Given the description of an element on the screen output the (x, y) to click on. 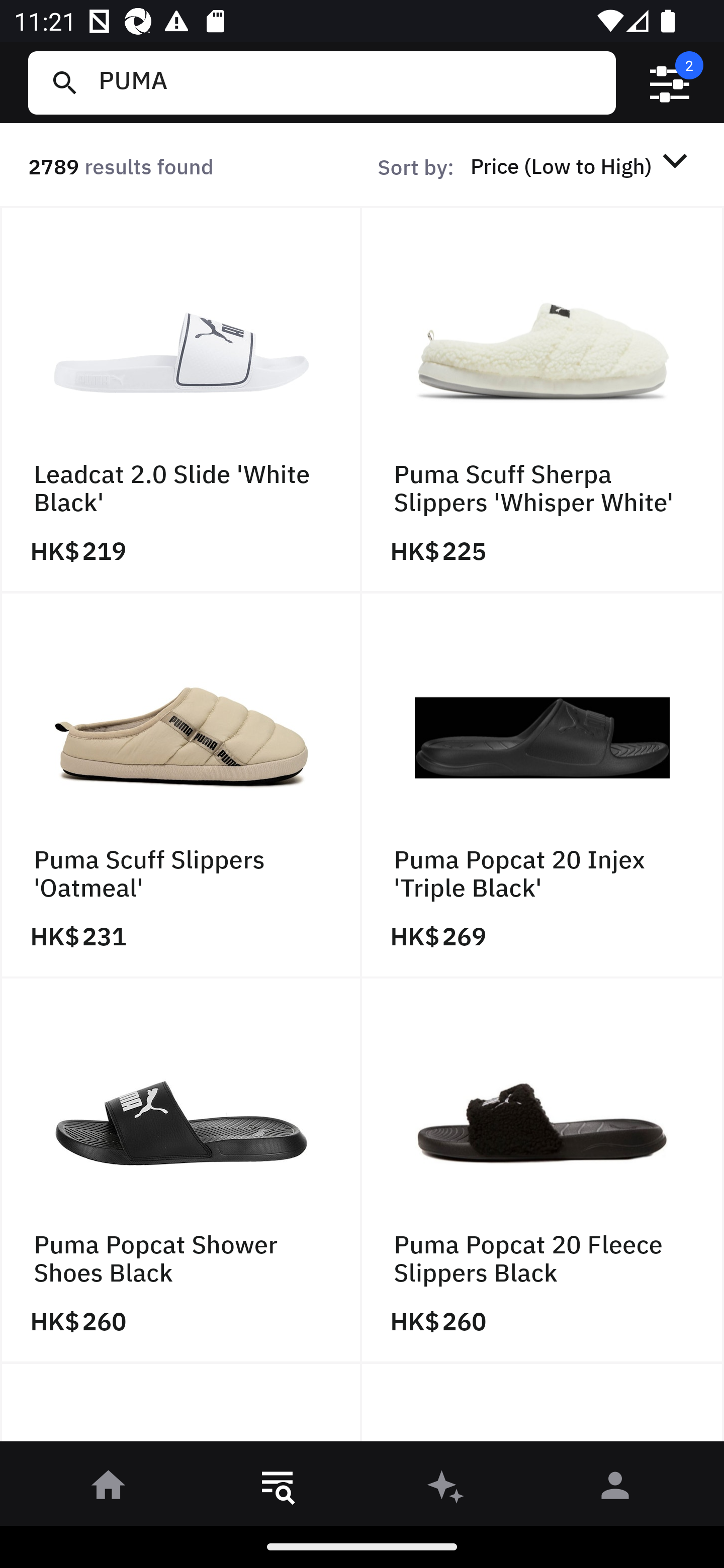
PUMA (349, 82)
 (669, 82)
Price (Low to High)  (582, 165)
Leadcat 2.0 Slide 'White Black' HK$ 219 (181, 399)
Puma Scuff Sherpa Slippers 'Whisper White' HK$ 225 (543, 399)
Puma Scuff Slippers 'Oatmeal' HK$ 231 (181, 785)
Puma Popcat 20 Injex 'Triple Black' HK$ 269 (543, 785)
Puma Popcat Shower Shoes Black HK$ 260 (181, 1171)
Puma Popcat 20 Fleece Slippers Black HK$ 260 (543, 1171)
󰋜 (108, 1488)
󱎸 (277, 1488)
󰫢 (446, 1488)
󰀄 (615, 1488)
